Given the description of an element on the screen output the (x, y) to click on. 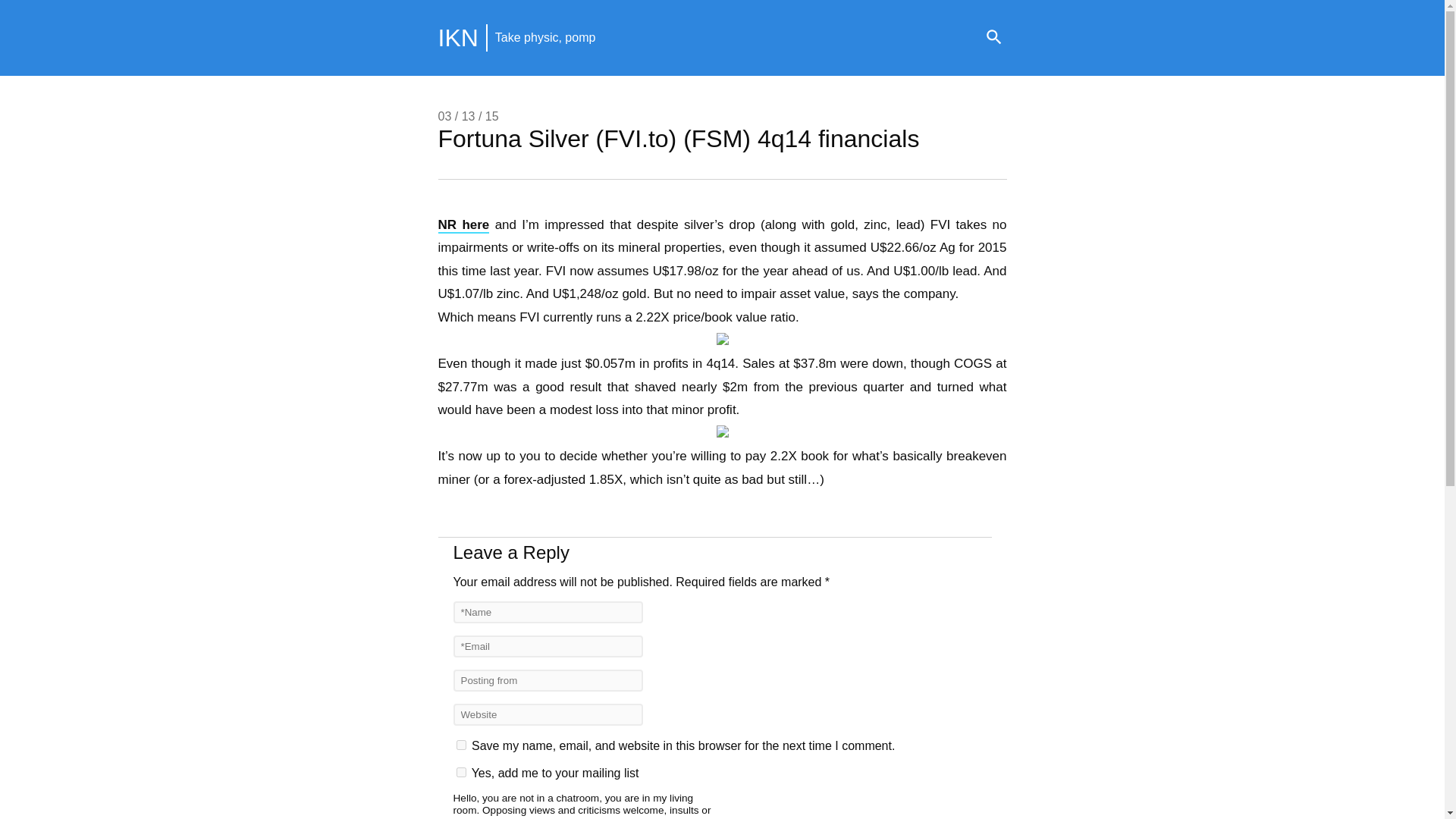
IKN (458, 37)
Search (993, 37)
yes (461, 745)
1 (461, 772)
NR here (463, 225)
